Given the description of an element on the screen output the (x, y) to click on. 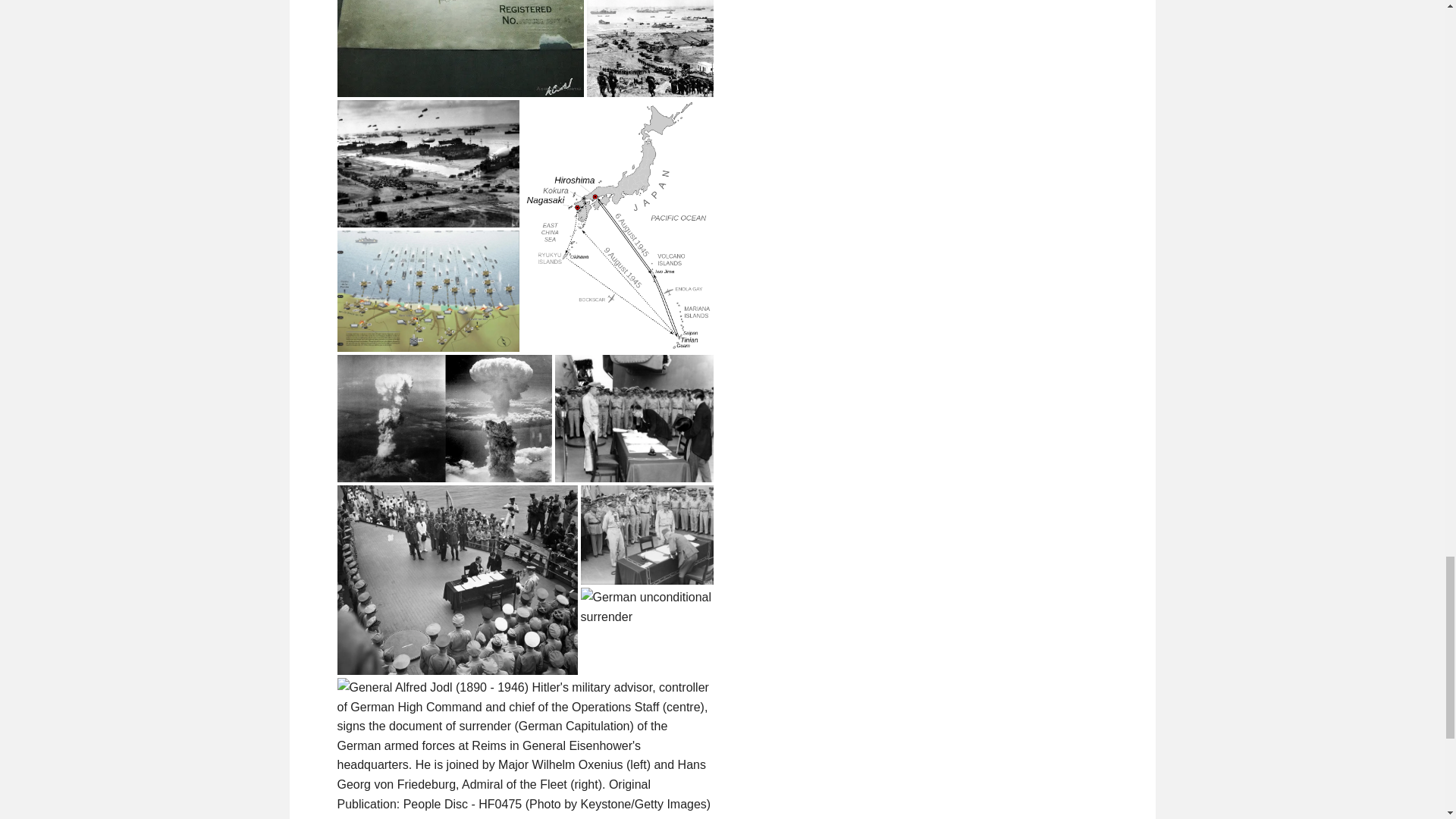
Japan unconditional surrender (633, 418)
Japan surrender (646, 534)
D-Day (427, 163)
Surrender of the Japanese on the USS (456, 579)
WWII-D-Day (649, 48)
Rainbow Plan 5 cover (459, 48)
Alfred Jodl (524, 746)
Landing-Corridors-D-Day (427, 291)
German unconditional surrender (646, 607)
